Given the description of an element on the screen output the (x, y) to click on. 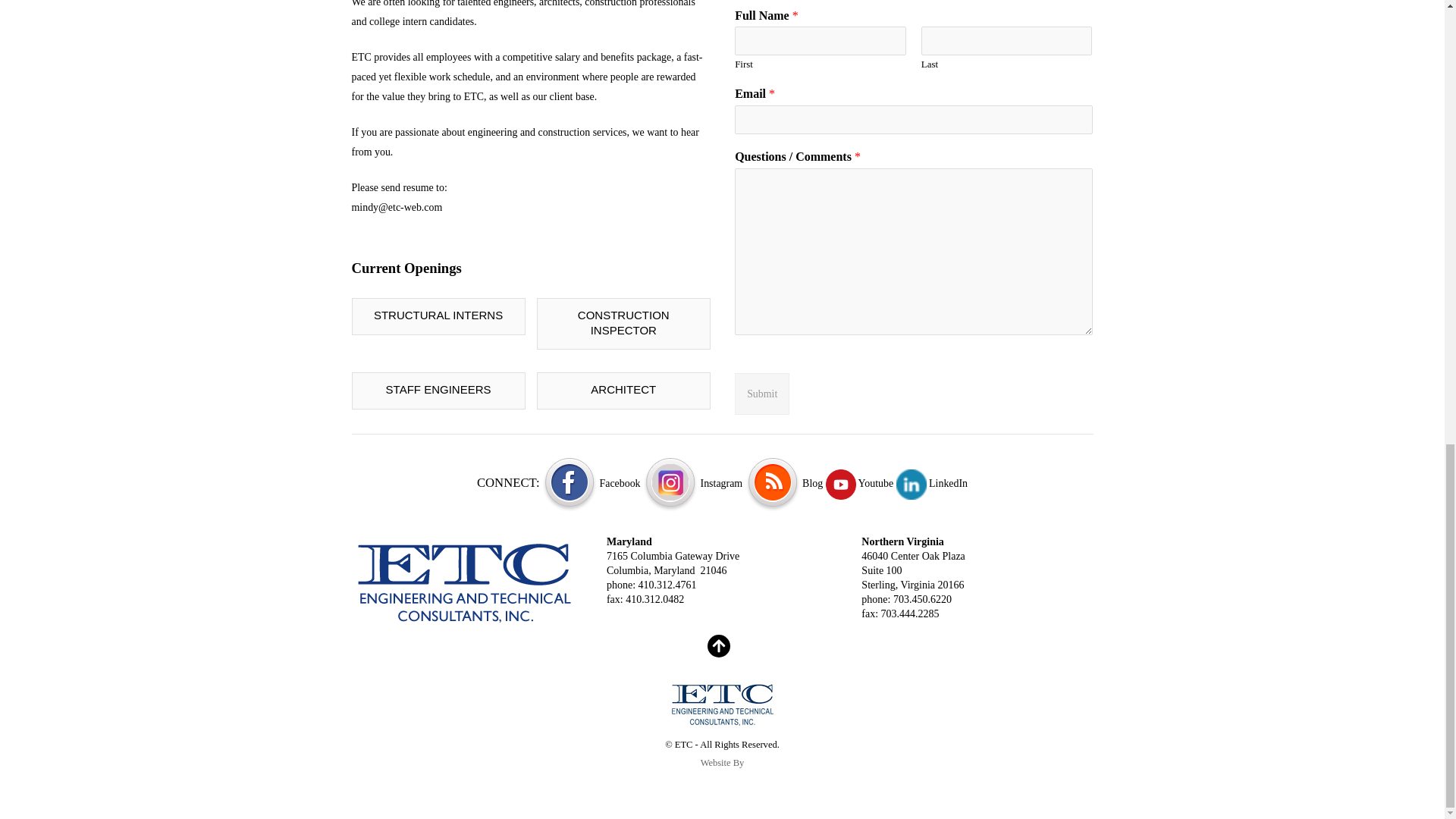
Contact Us (465, 581)
Facebook (590, 482)
Youtube Channel (859, 482)
LinkedIn (932, 482)
Blog (784, 482)
Instagram (692, 482)
